Given the description of an element on the screen output the (x, y) to click on. 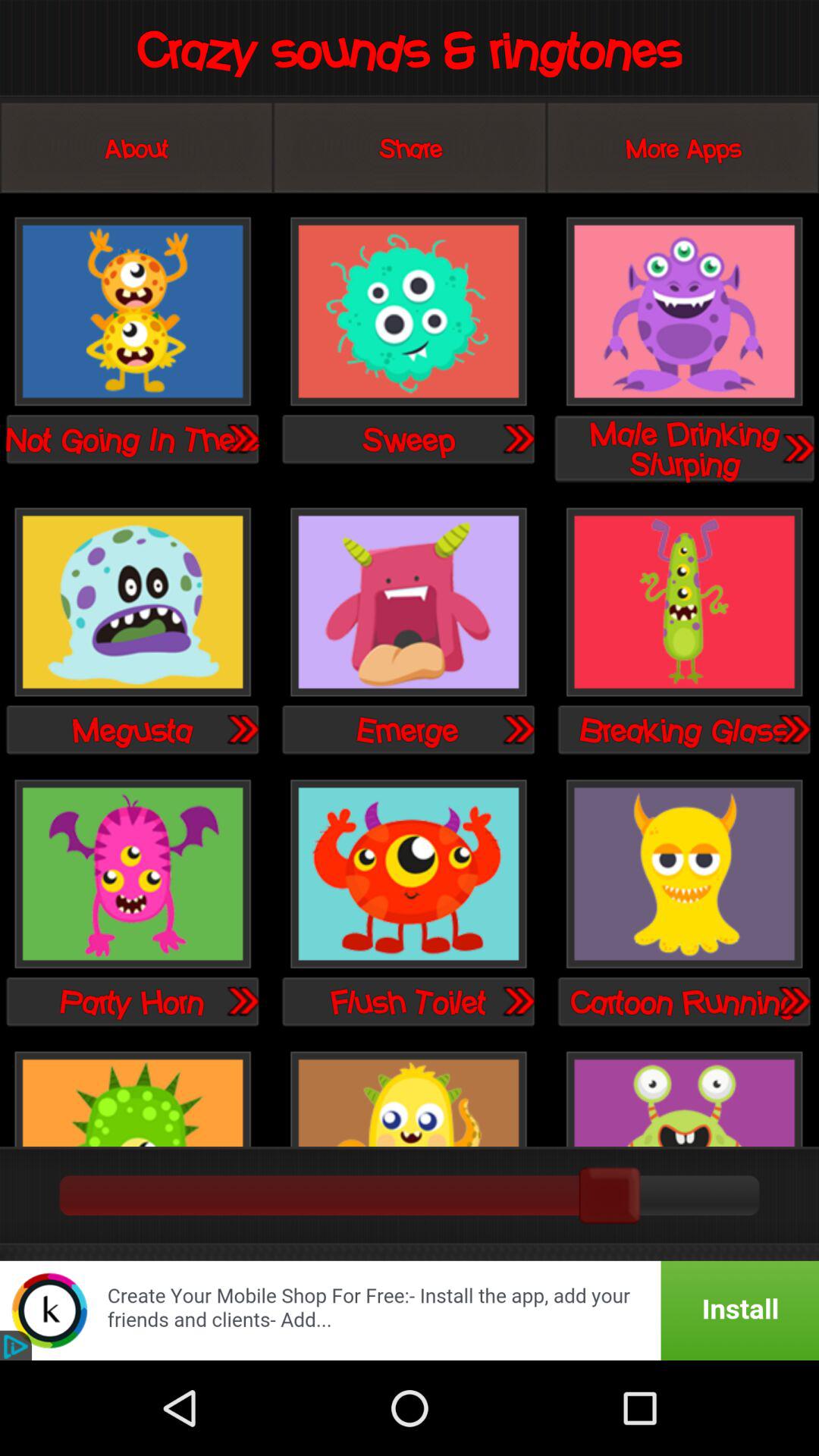
hear a sound (132, 312)
